Given the description of an element on the screen output the (x, y) to click on. 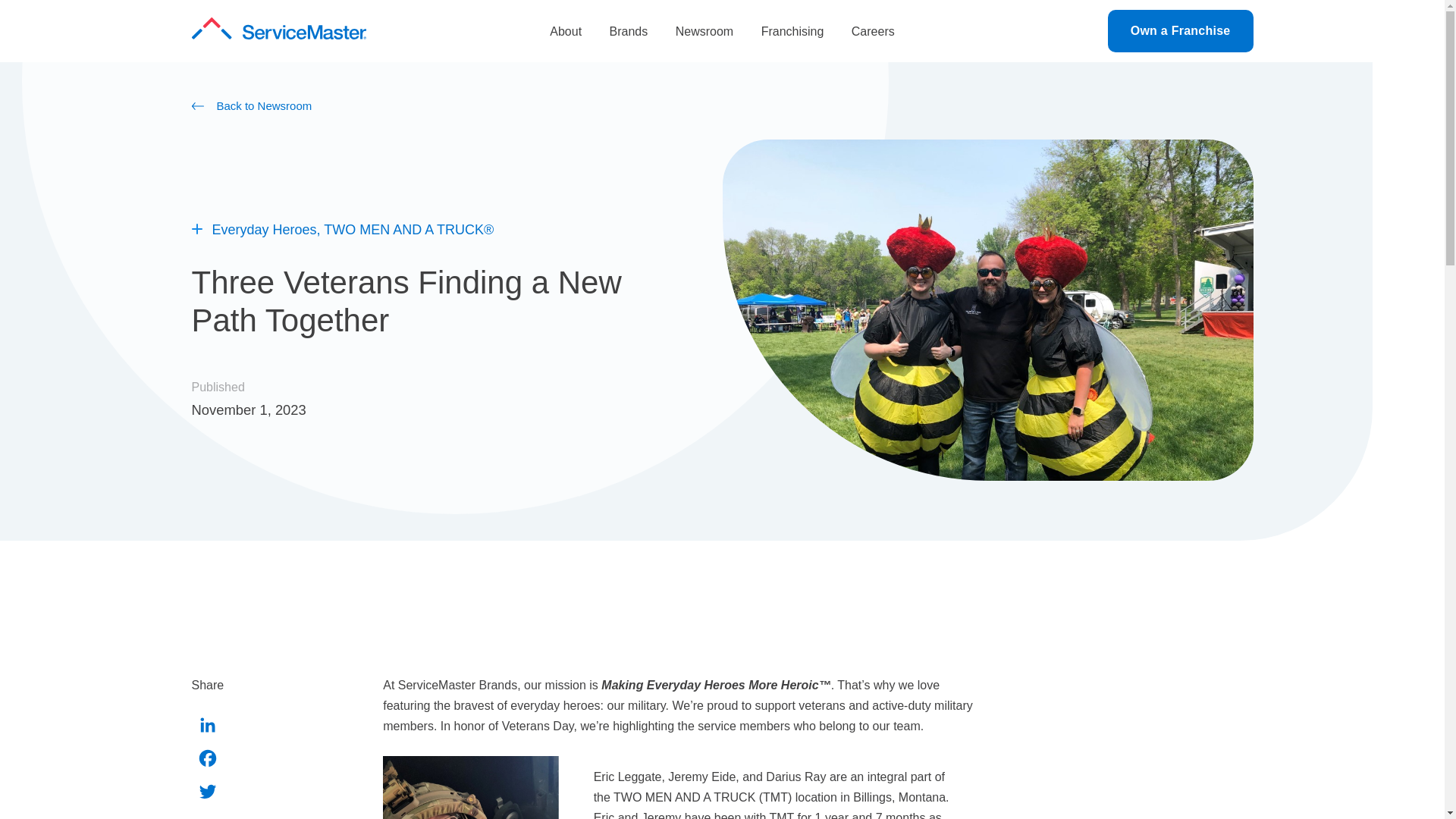
Facebook (207, 761)
Facebook (207, 761)
Back to Newsroom (721, 106)
LinkedIn (207, 728)
Everyday Heroes (264, 230)
Twitter (207, 795)
Twitter (207, 795)
Own a Franchise (1180, 30)
Link to homepage (277, 31)
Franchising (792, 31)
LinkedIn (207, 728)
Email (207, 816)
Newsroom (704, 31)
Email (207, 816)
